Given the description of an element on the screen output the (x, y) to click on. 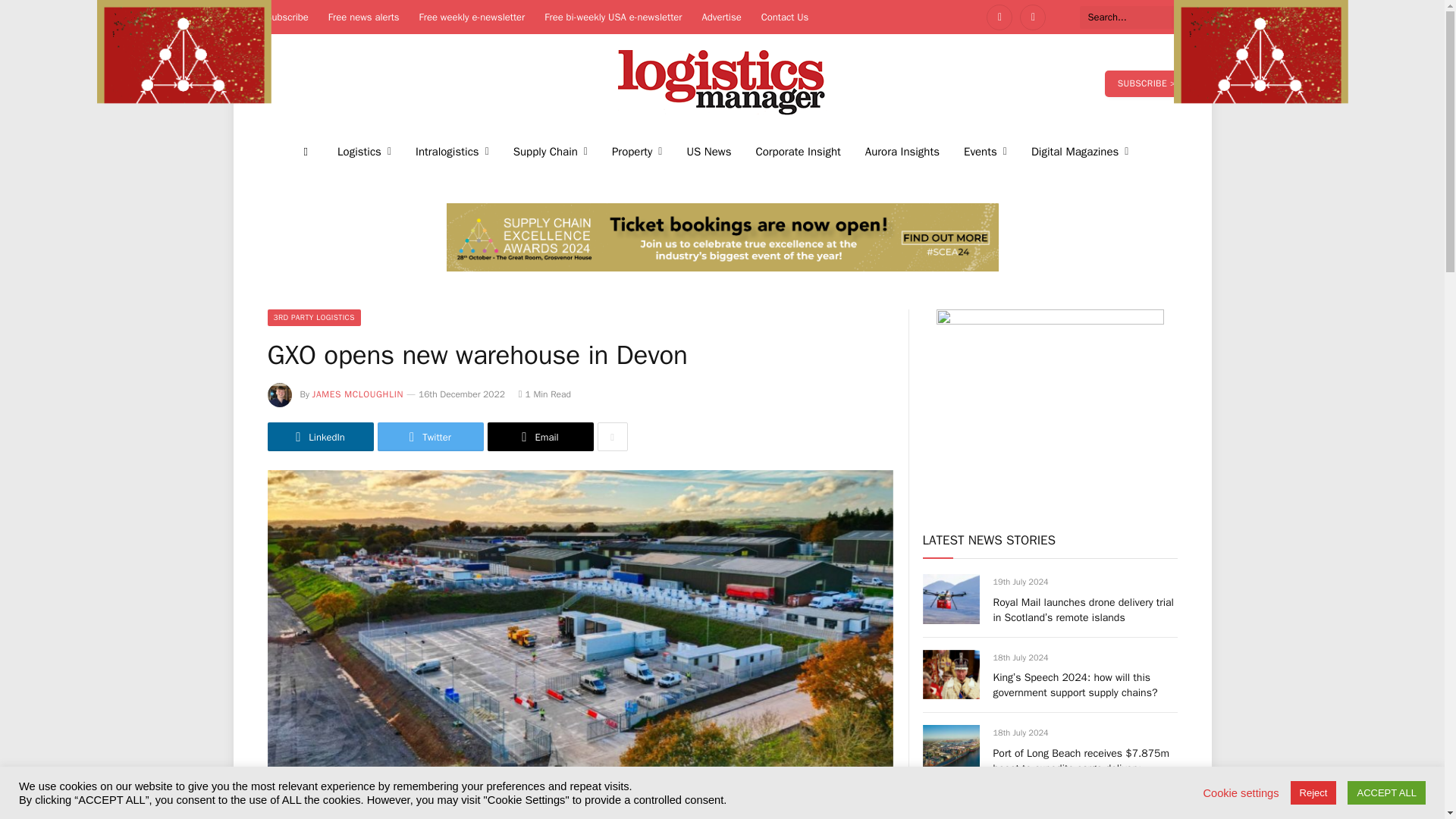
Posts by James McLoughlin (358, 394)
Logistics Manager (722, 83)
Show More Social Sharing (611, 436)
Share via Email (539, 436)
Share on LinkedIn (319, 436)
